Given the description of an element on the screen output the (x, y) to click on. 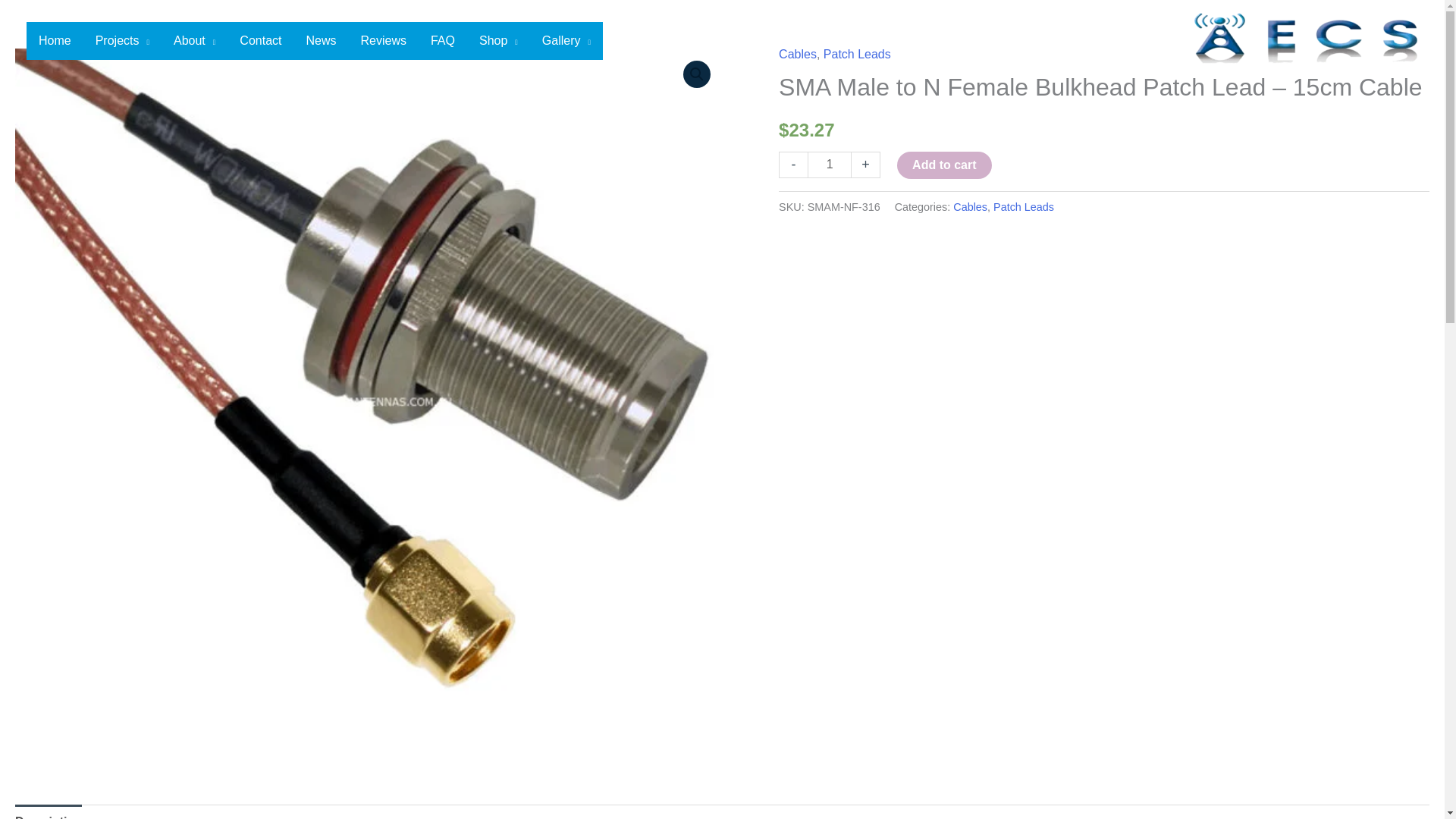
Projects (121, 39)
1 (829, 164)
Home (54, 39)
